Given the description of an element on the screen output the (x, y) to click on. 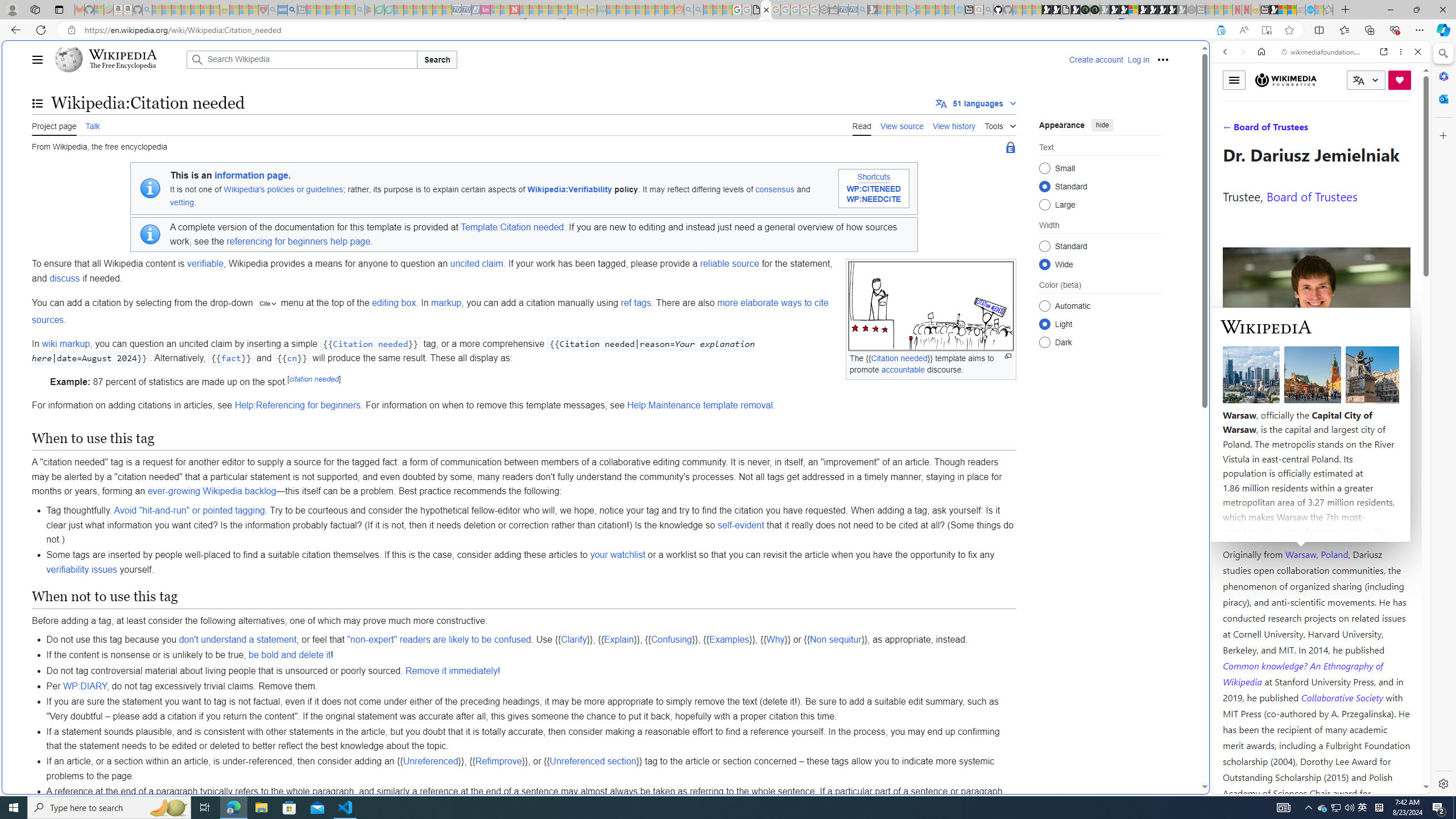
Shortcuts (874, 176)
Wide (1044, 263)
Board of Trustees (1311, 195)
Refimprove (498, 761)
Light (1044, 323)
Talk (92, 124)
